Given the description of an element on the screen output the (x, y) to click on. 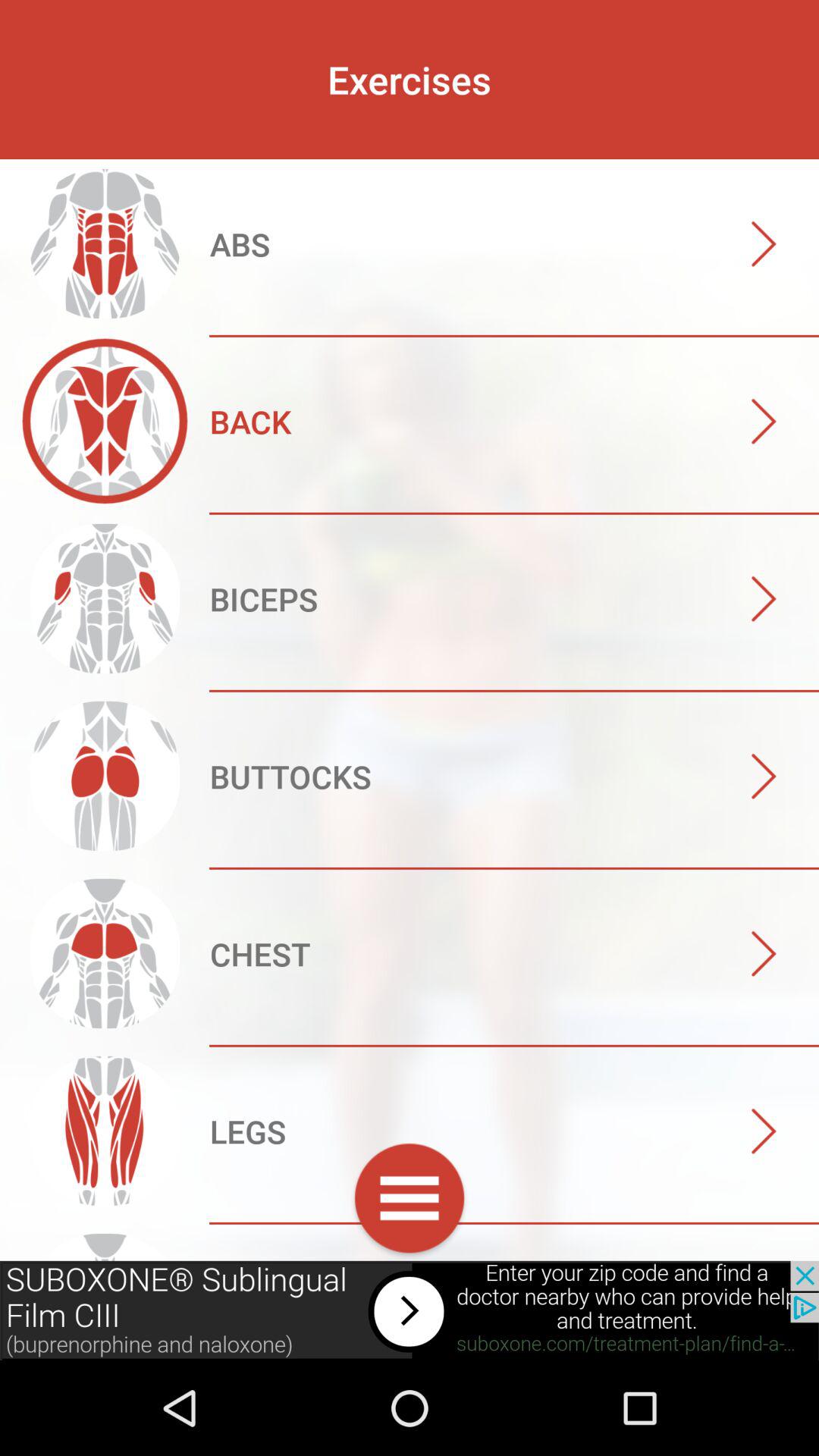
click menu option (409, 1200)
